Given the description of an element on the screen output the (x, y) to click on. 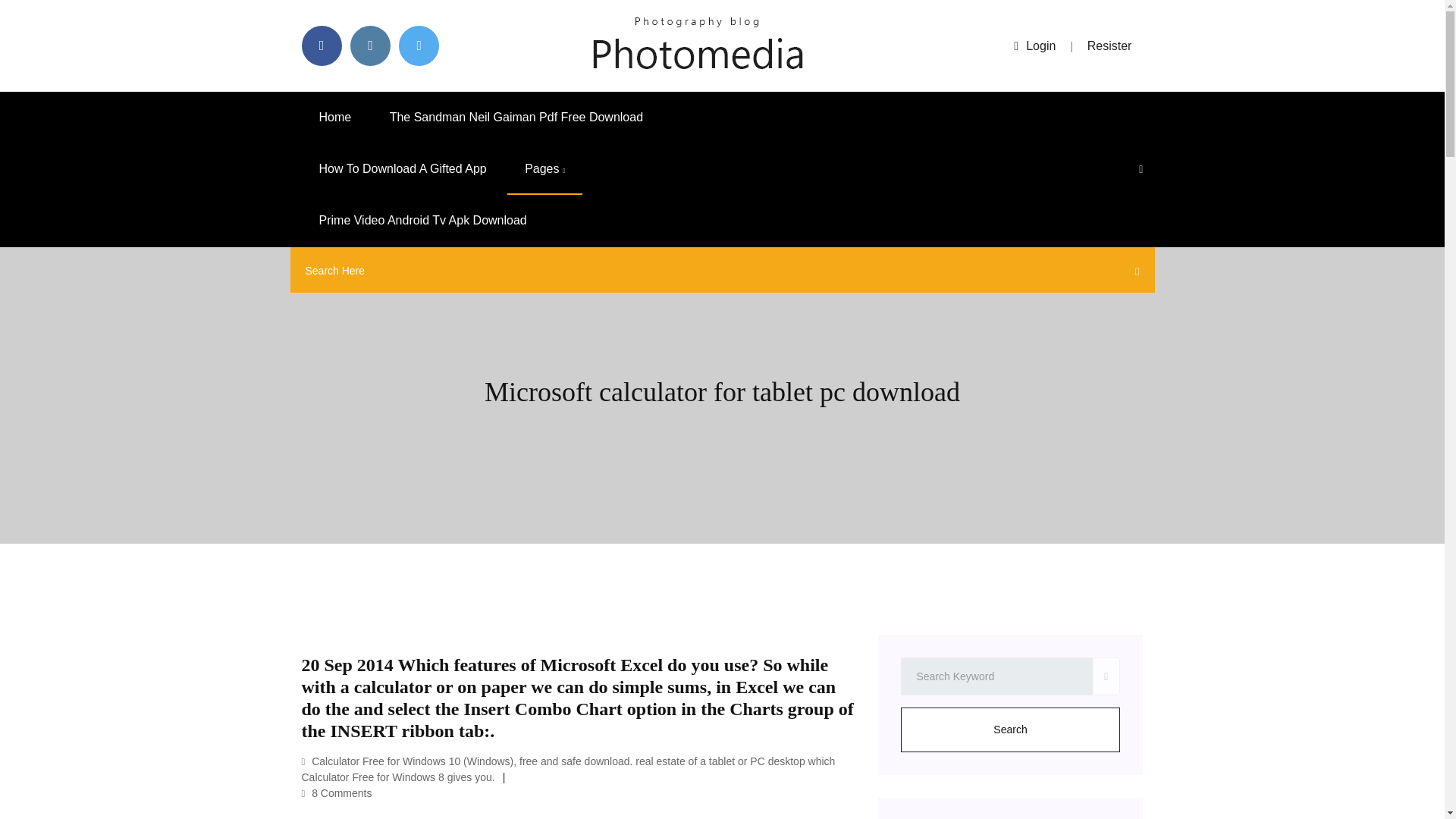
8 Comments (336, 793)
The Sandman Neil Gaiman Pdf Free Download (516, 117)
How To Download A Gifted App (402, 168)
Prime Video Android Tv Apk Download (422, 220)
Pages (544, 168)
Home (335, 117)
Login (1034, 45)
Resister (1109, 45)
